Given the description of an element on the screen output the (x, y) to click on. 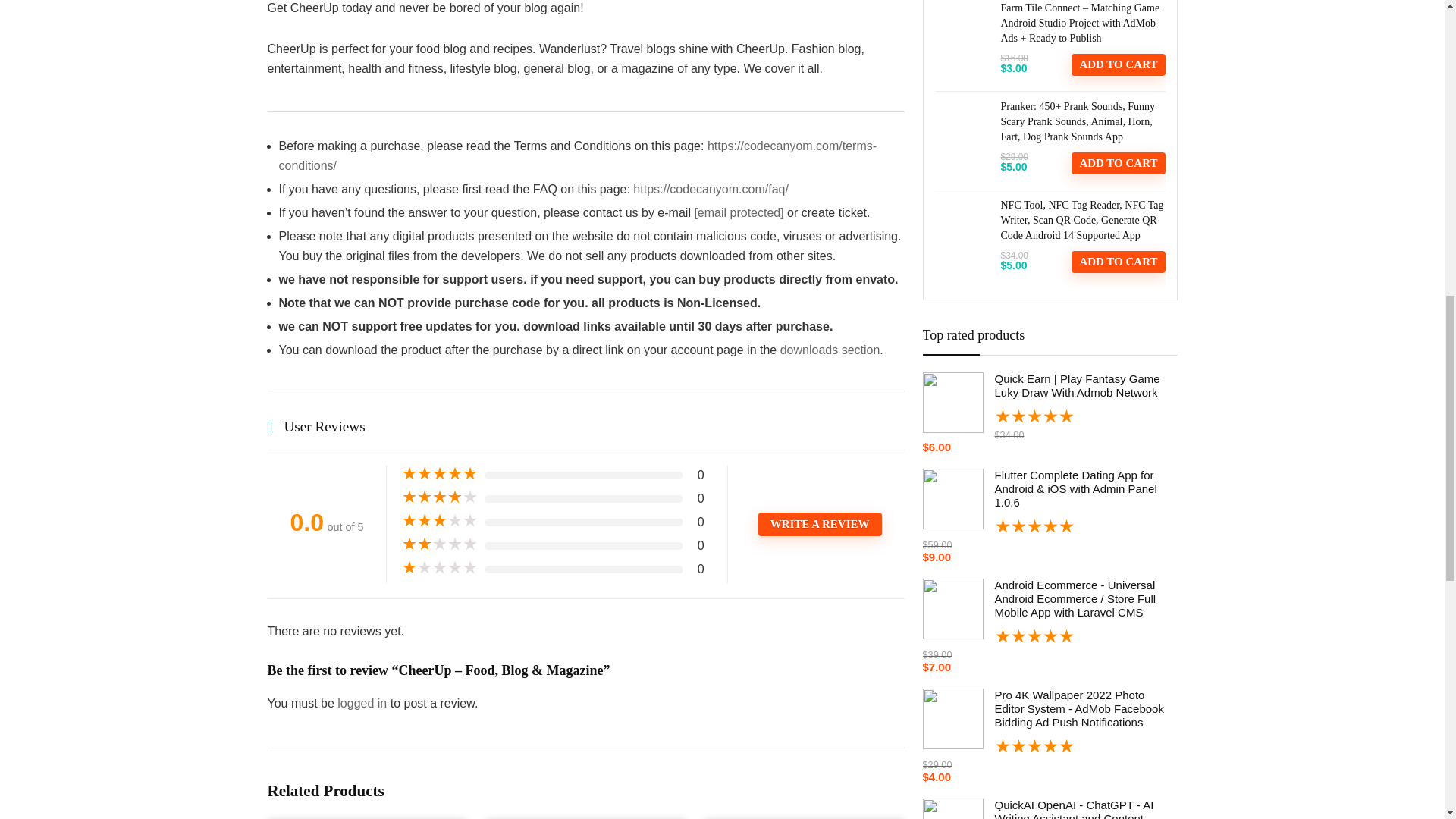
Rated 5 out of 5 (1048, 525)
Rated 2 out of 5 (439, 544)
Rated 5 out of 5 (1048, 745)
WRITE A REVIEW (820, 524)
Rated 5 out of 5 (439, 473)
Rated 1 out of 5 (439, 567)
Rated 3 out of 5 (439, 520)
Rated 5 out of 5 (1048, 635)
Rated 5 out of 5 (1048, 415)
Rated 4 out of 5 (439, 496)
